Given the description of an element on the screen output the (x, y) to click on. 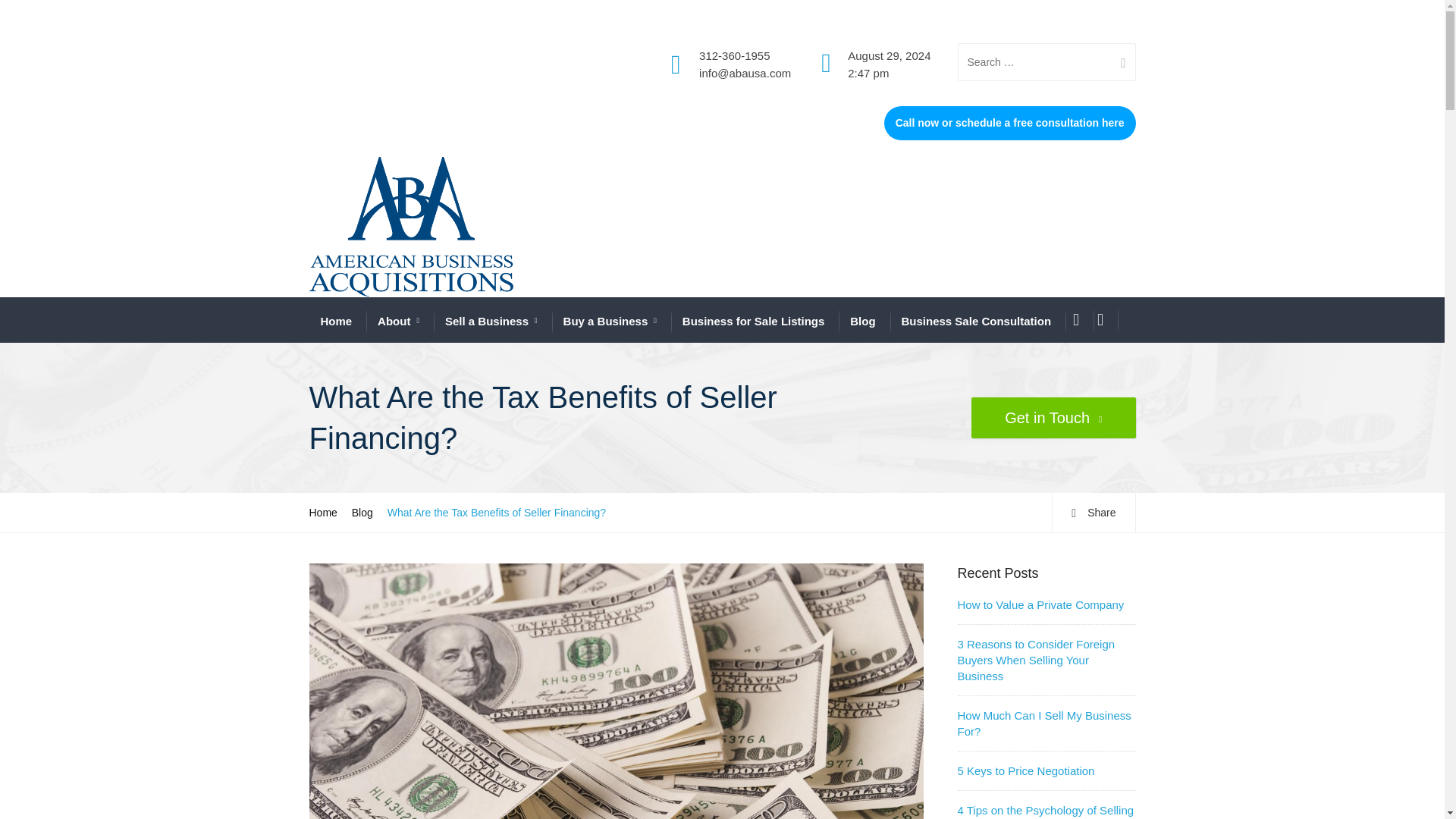
Call now or schedule a free consultation here (1009, 123)
Buy a Business (609, 321)
About (398, 321)
Home (336, 320)
Search (1117, 62)
Business Sale Consultation (976, 320)
Blog (862, 320)
Sell a Business (491, 321)
Search (1117, 62)
Search (1117, 62)
